Given the description of an element on the screen output the (x, y) to click on. 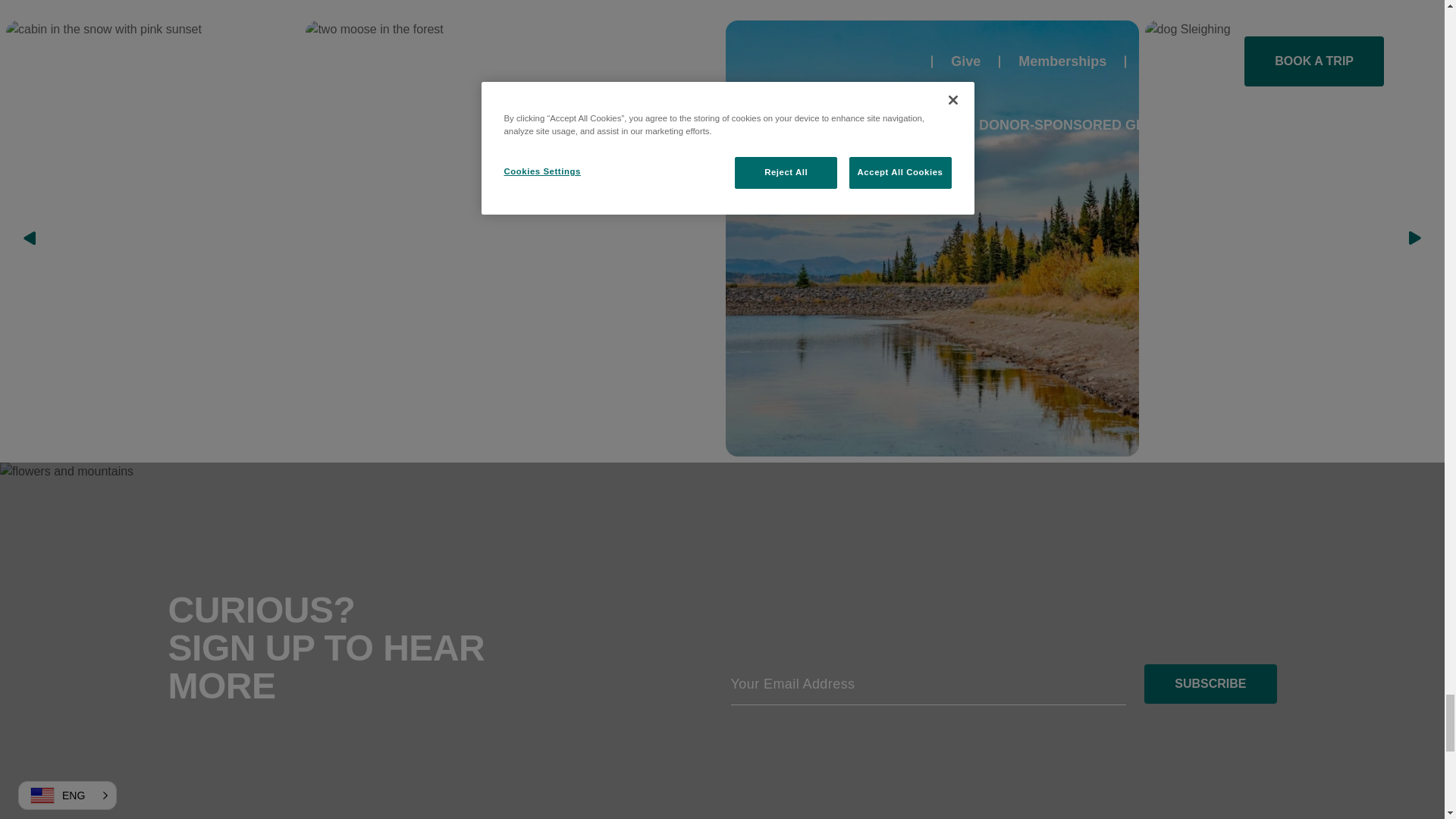
Subscribe (1210, 683)
